Given the description of an element on the screen output the (x, y) to click on. 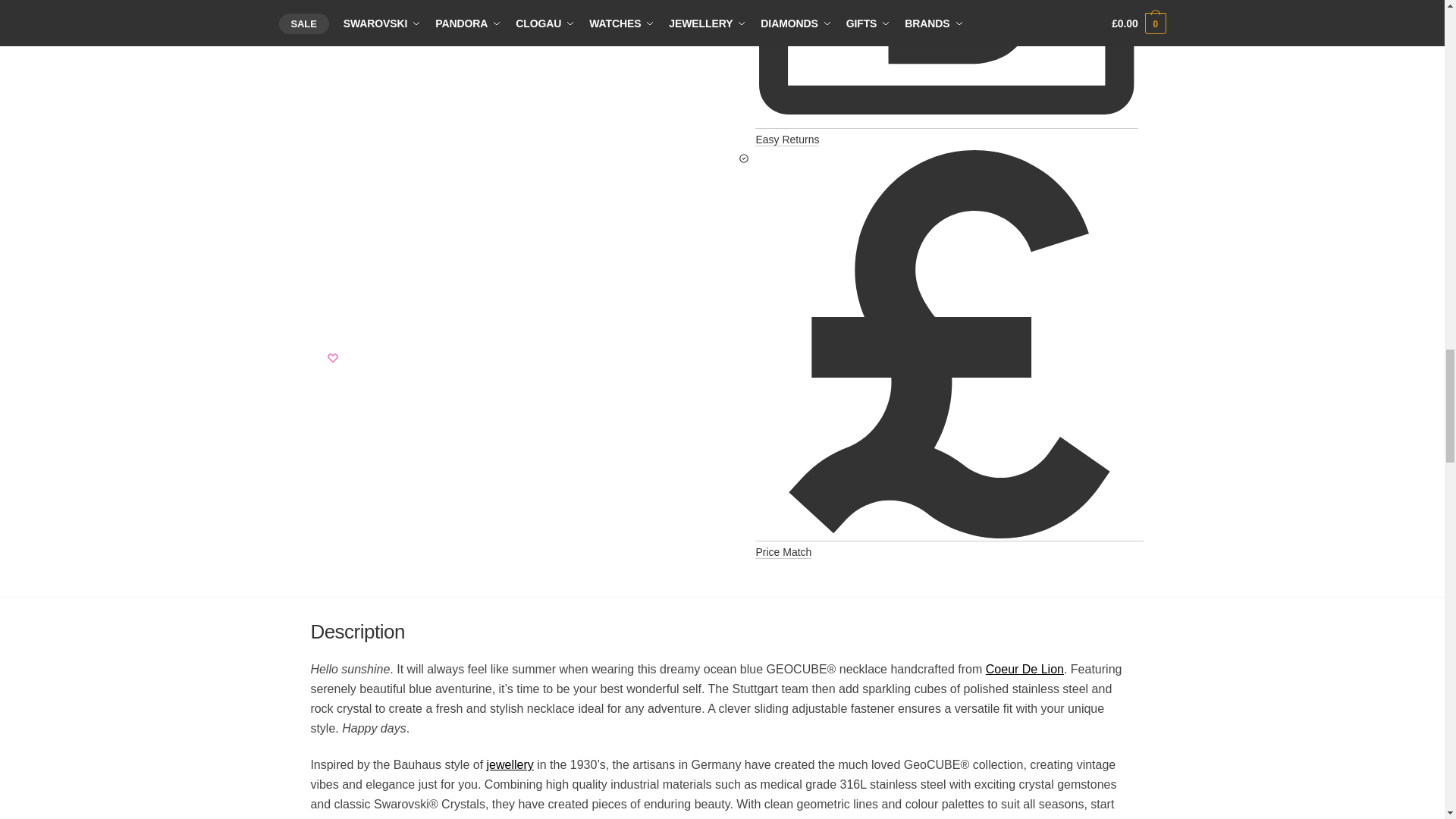
jewellery (510, 764)
Coeur De Lion (1024, 668)
